Given the description of an element on the screen output the (x, y) to click on. 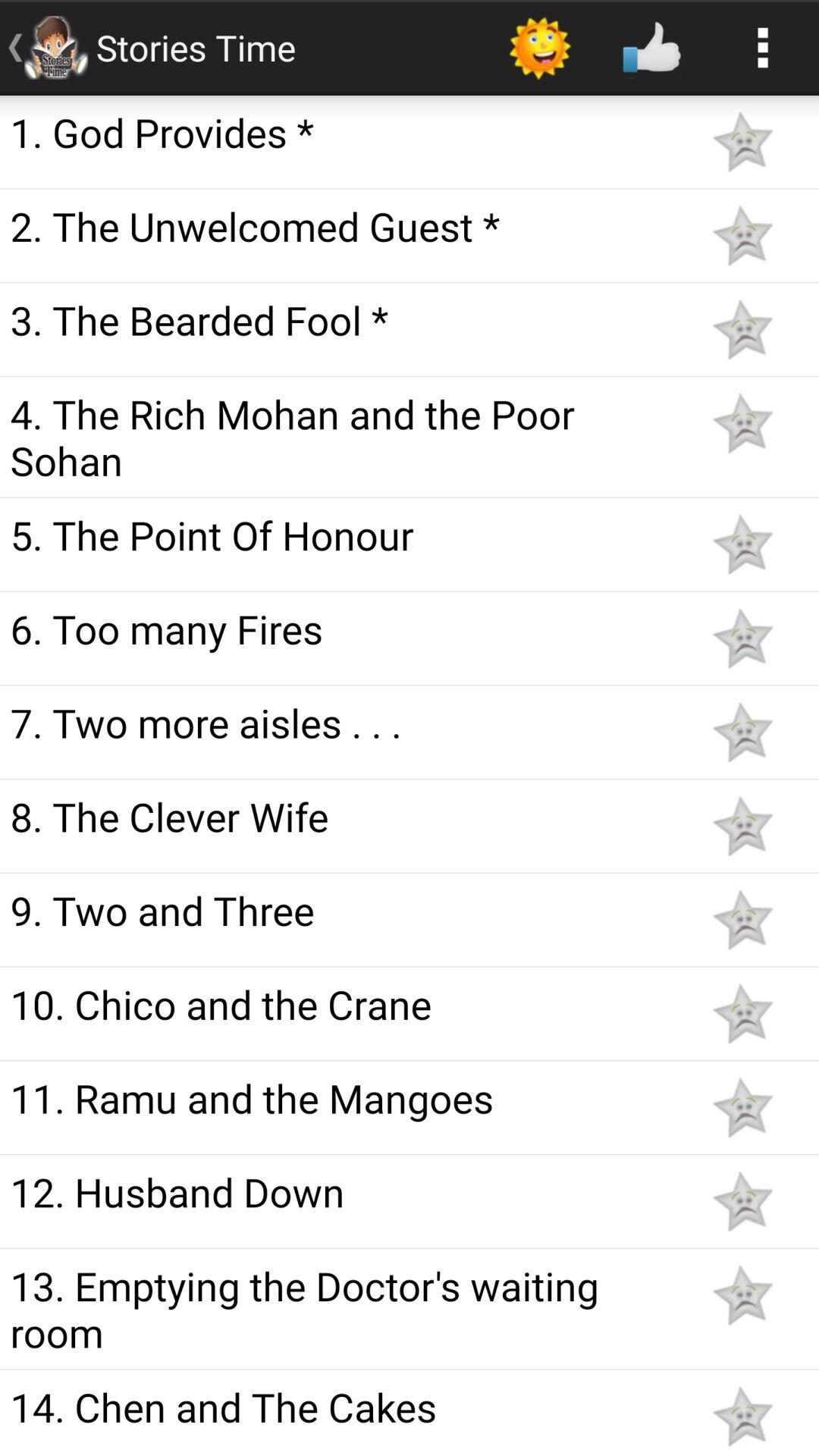
like story (742, 423)
